Given the description of an element on the screen output the (x, y) to click on. 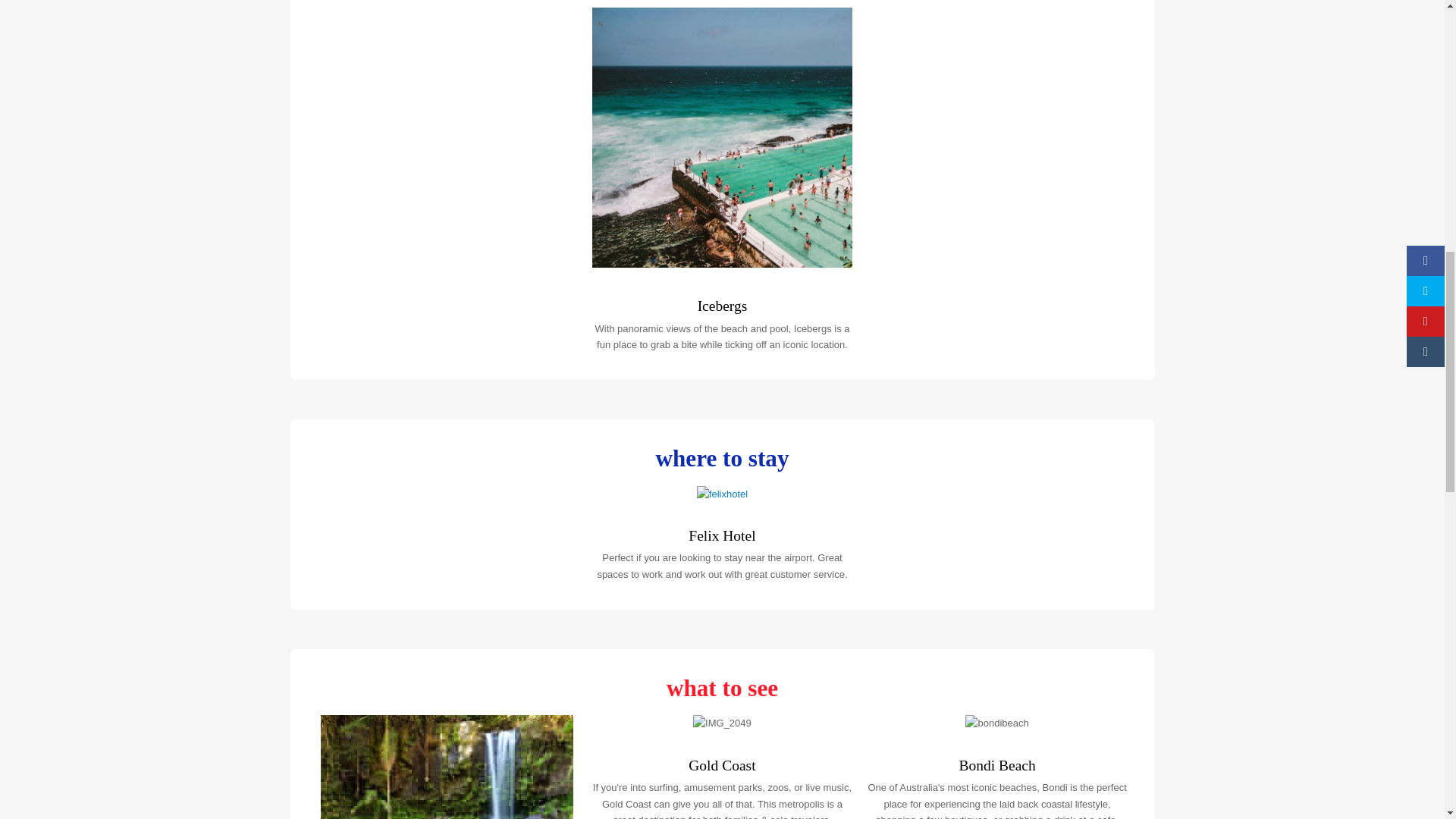
Icebergs (722, 305)
Felix Hotel (721, 535)
